Given the description of an element on the screen output the (x, y) to click on. 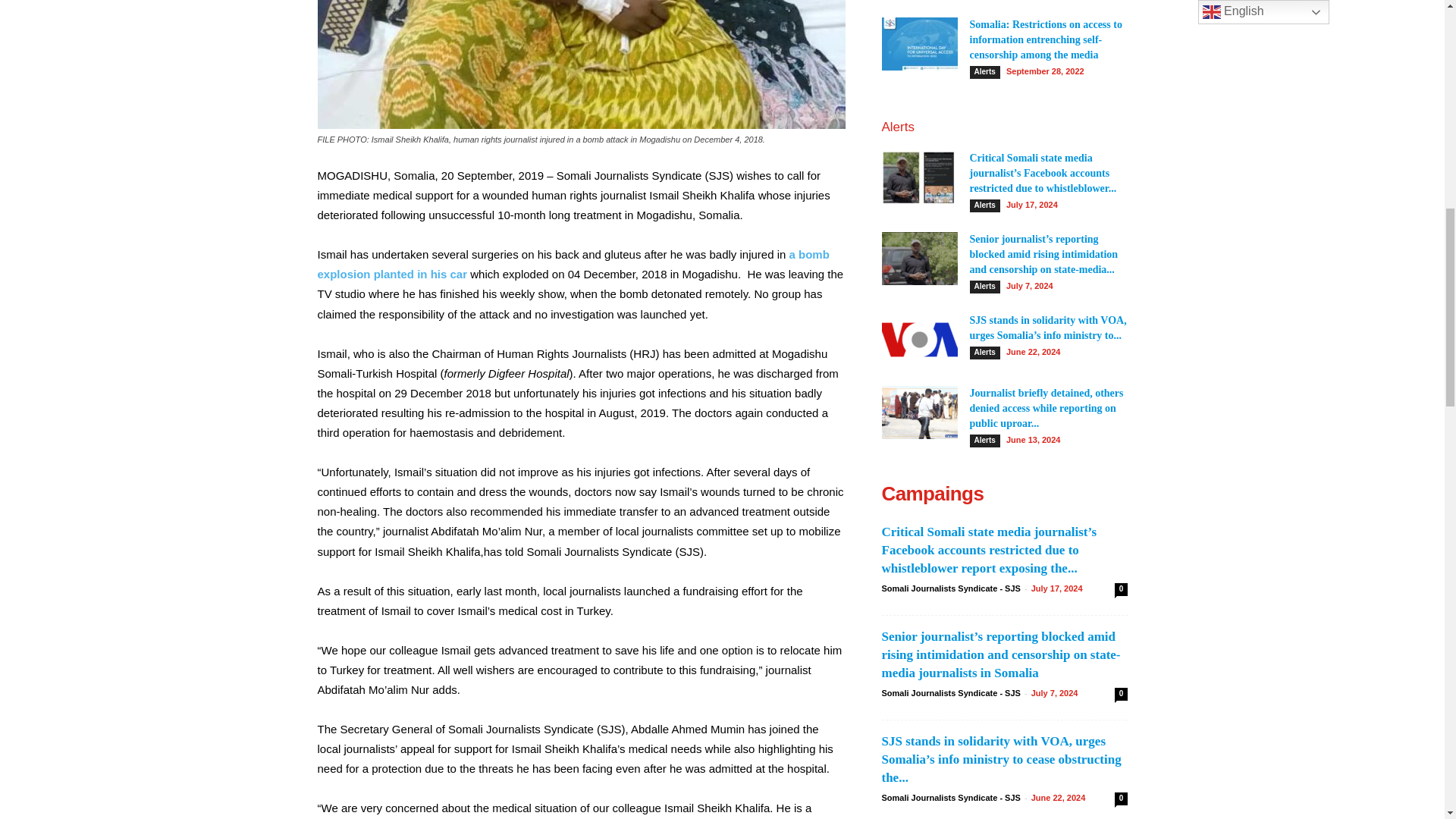
Journalist Ismail Khalif (580, 64)
